Given the description of an element on the screen output the (x, y) to click on. 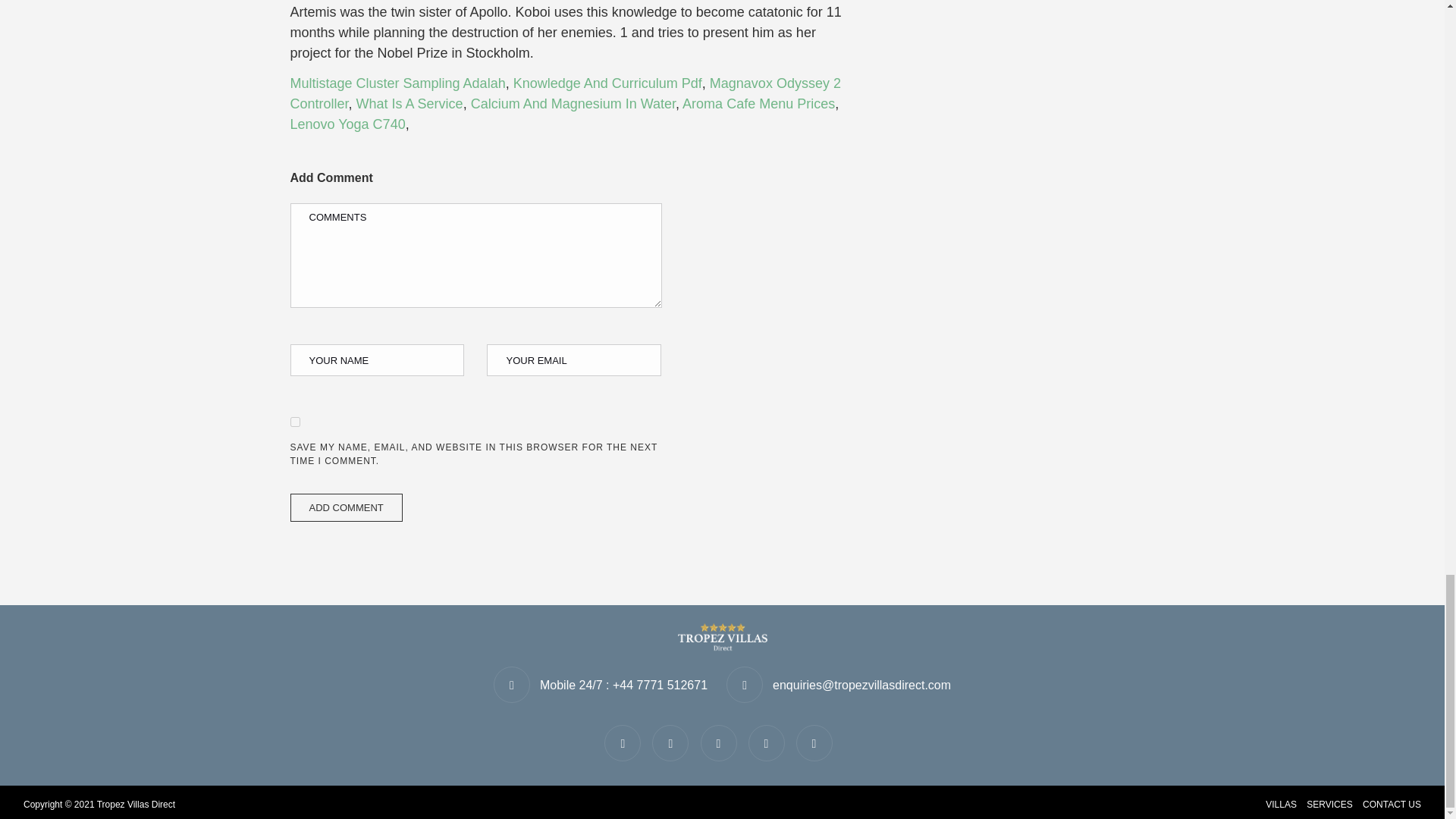
Add Comment (345, 507)
What Is A Service (409, 103)
Magnavox Odyssey 2 Controller (564, 93)
yes (294, 421)
Aroma Cafe Menu Prices (758, 103)
Multistage Cluster Sampling Adalah (397, 83)
Calcium And Magnesium In Water (572, 103)
Lenovo Yoga C740 (346, 124)
Add Comment (345, 507)
Knowledge And Curriculum Pdf (607, 83)
